Given the description of an element on the screen output the (x, y) to click on. 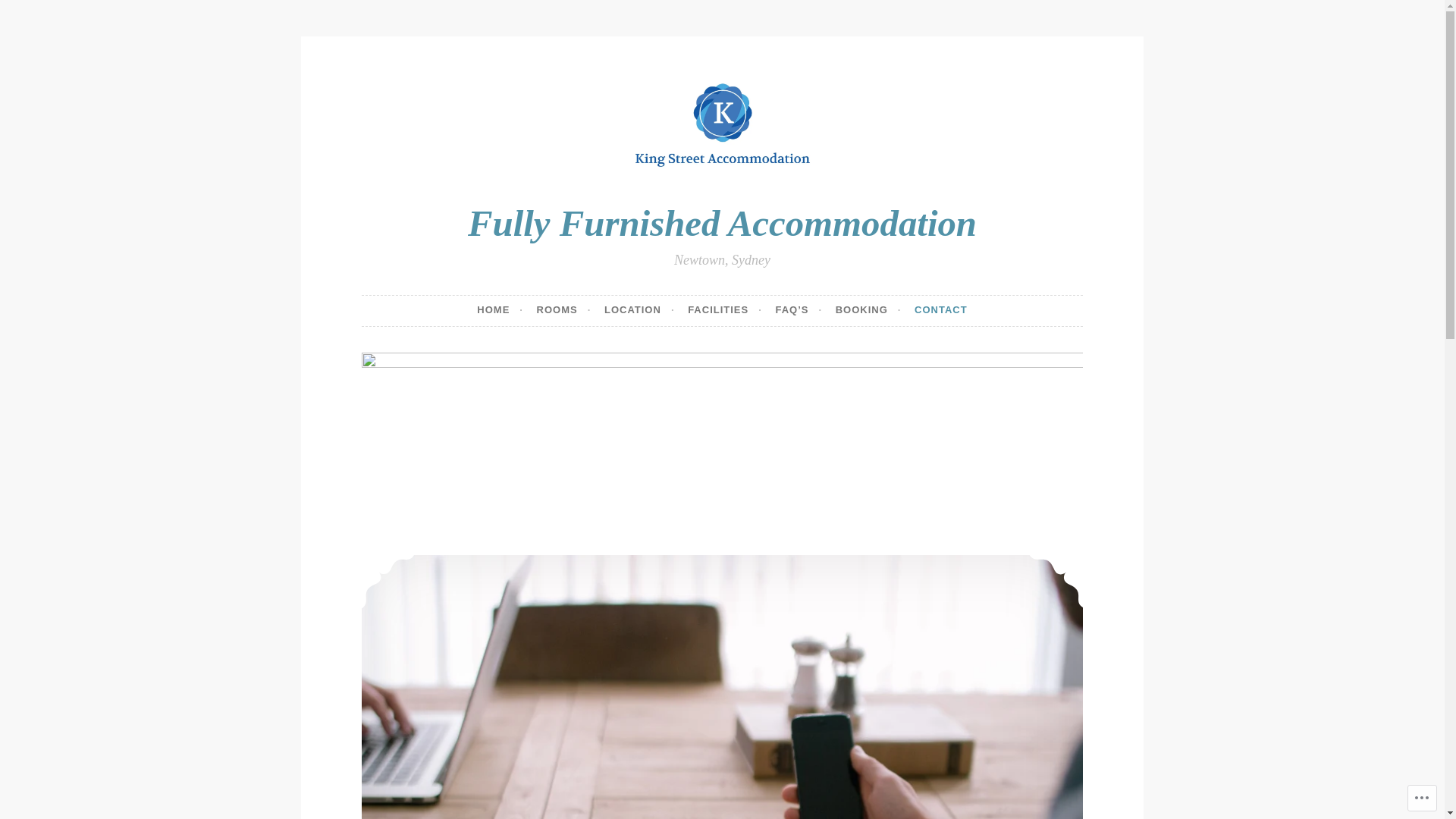
Skip to content Element type: text (360, 72)
ROOMS Element type: text (563, 310)
CONTACT Element type: text (940, 310)
LOCATION Element type: text (639, 310)
FACILITIES Element type: text (724, 310)
HOME Element type: text (499, 310)
Fully Furnished Accommodation Element type: text (721, 223)
BOOKING Element type: text (868, 310)
